Given the description of an element on the screen output the (x, y) to click on. 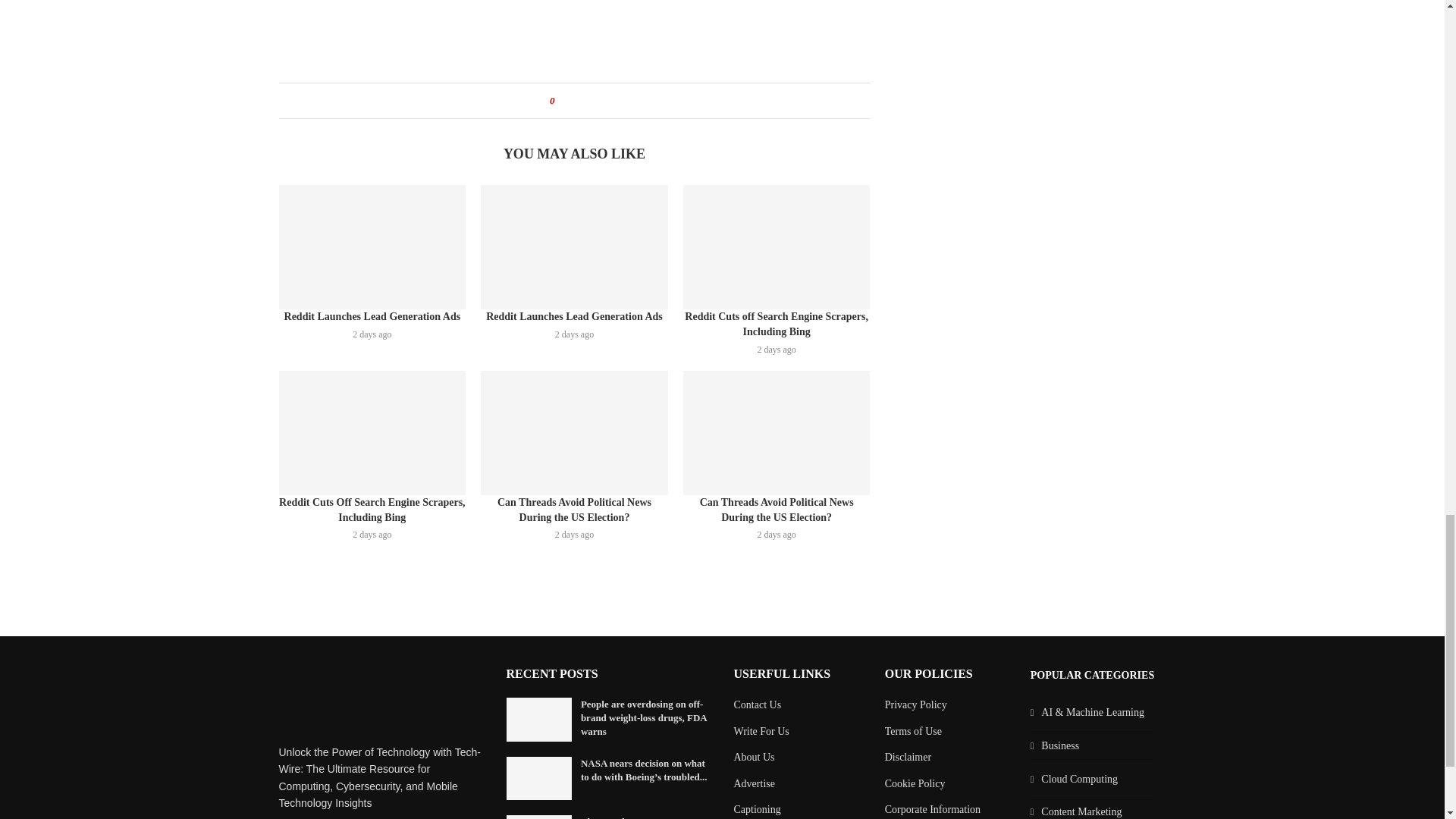
Reddit Launches Lead Generation Ads (372, 247)
Reddit Cuts off Search Engine Scrapers, Including Bing (776, 247)
Reddit Cuts Off Search Engine Scrapers, Including Bing (372, 433)
Can Threads Avoid Political News During the US Election? (776, 433)
Reddit Launches Lead Generation Ads (574, 247)
Can Threads Avoid Political News During the US Election? (574, 433)
